Given the description of an element on the screen output the (x, y) to click on. 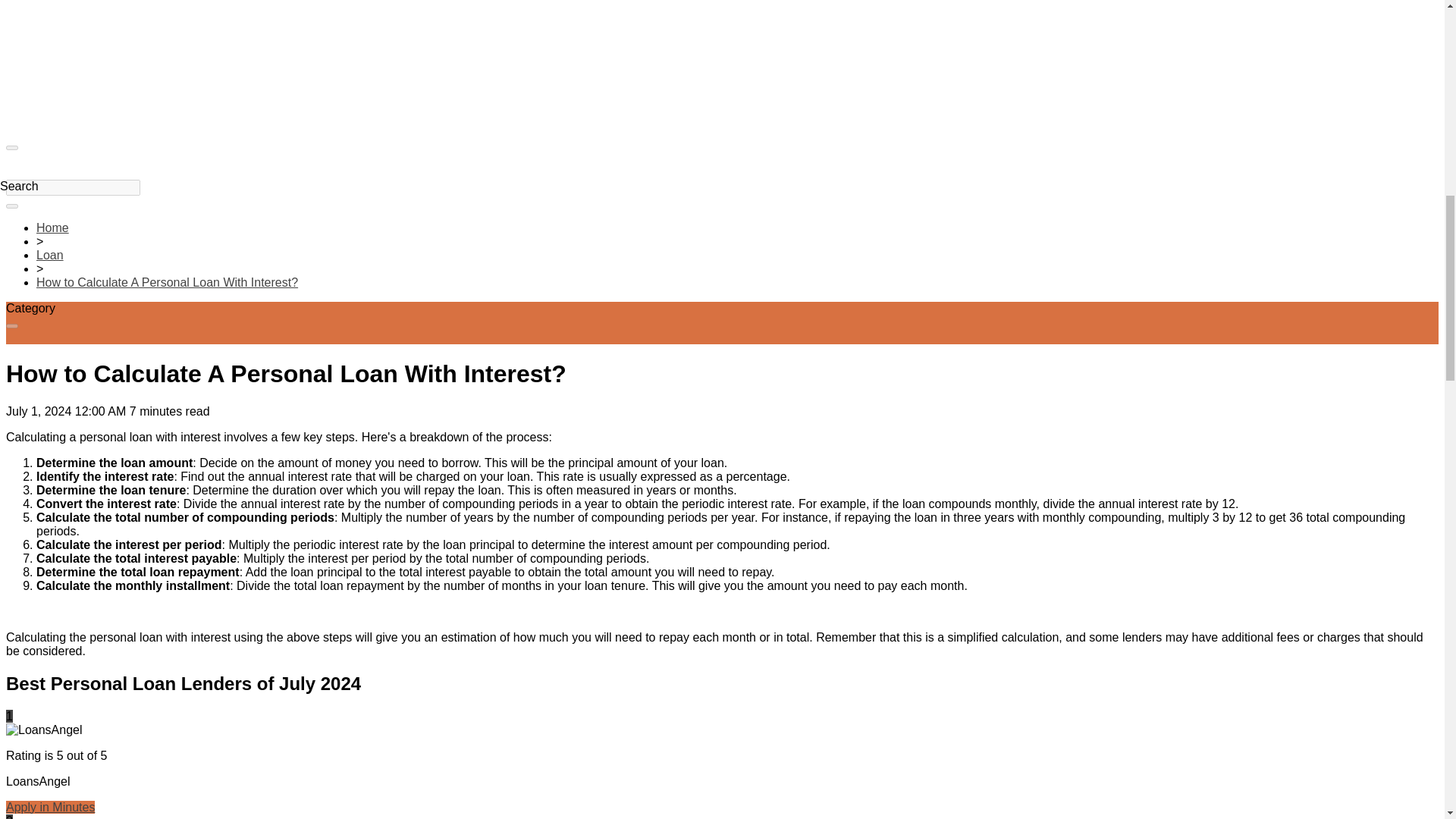
Apply in Minutes (49, 807)
Home (52, 227)
How to Calculate A Personal Loan With Interest? (167, 282)
Loan (50, 254)
